Given the description of an element on the screen output the (x, y) to click on. 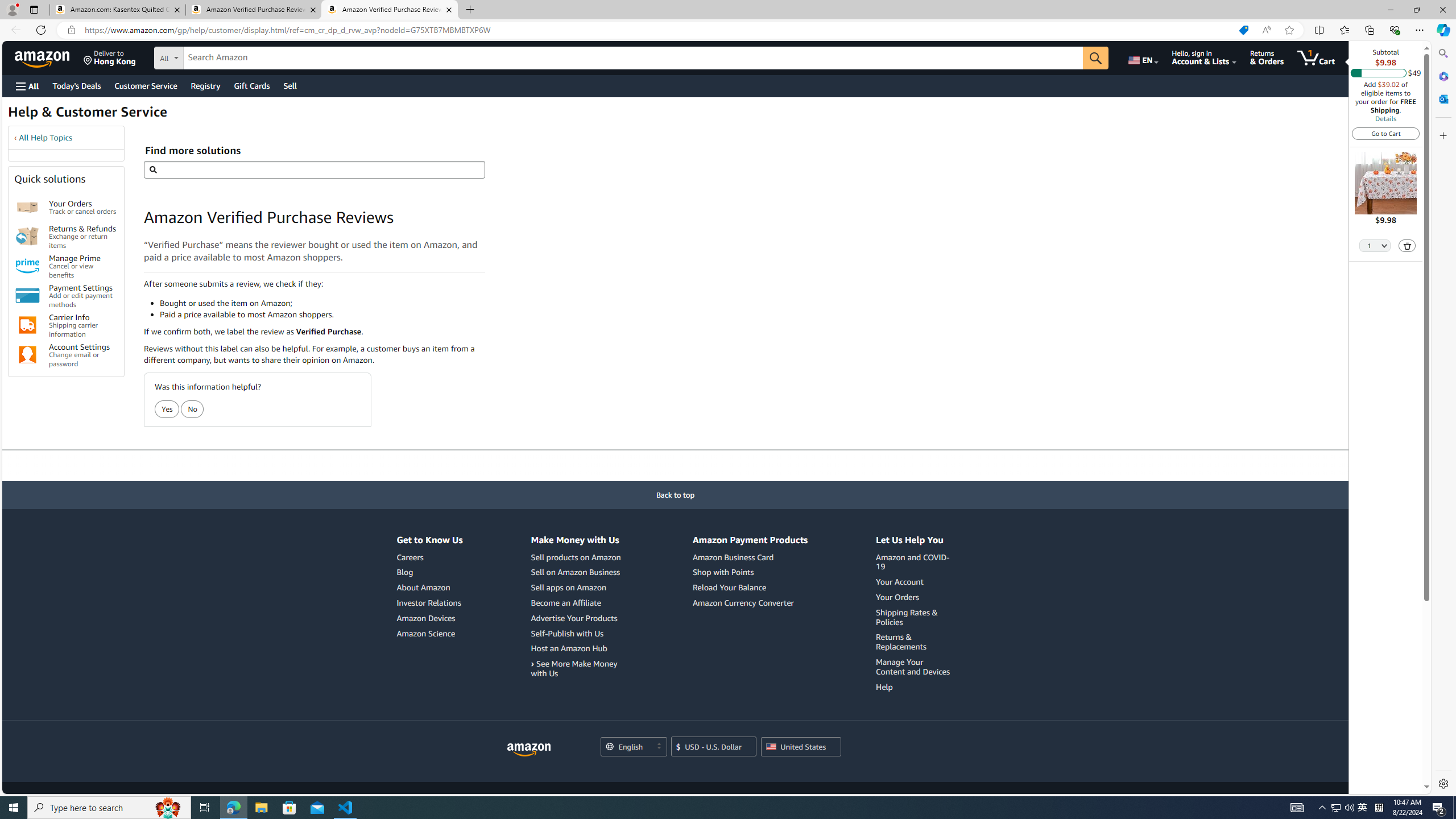
Self-Publish with Us (566, 633)
Side bar (1443, 418)
1 item in cart (1315, 57)
Returns & Refunds Exchange or return items (82, 236)
Amazon Business Card (749, 557)
Sell products on Amazon (576, 557)
Careers (429, 557)
Bought or used the item on Amazon; (322, 302)
Delete (1407, 245)
Amazon Currency Converter (742, 602)
Amazon and COVID-19 (912, 562)
Manage Prime (27, 266)
Amazon Science (429, 633)
Customer Service (145, 85)
